Given the description of an element on the screen output the (x, y) to click on. 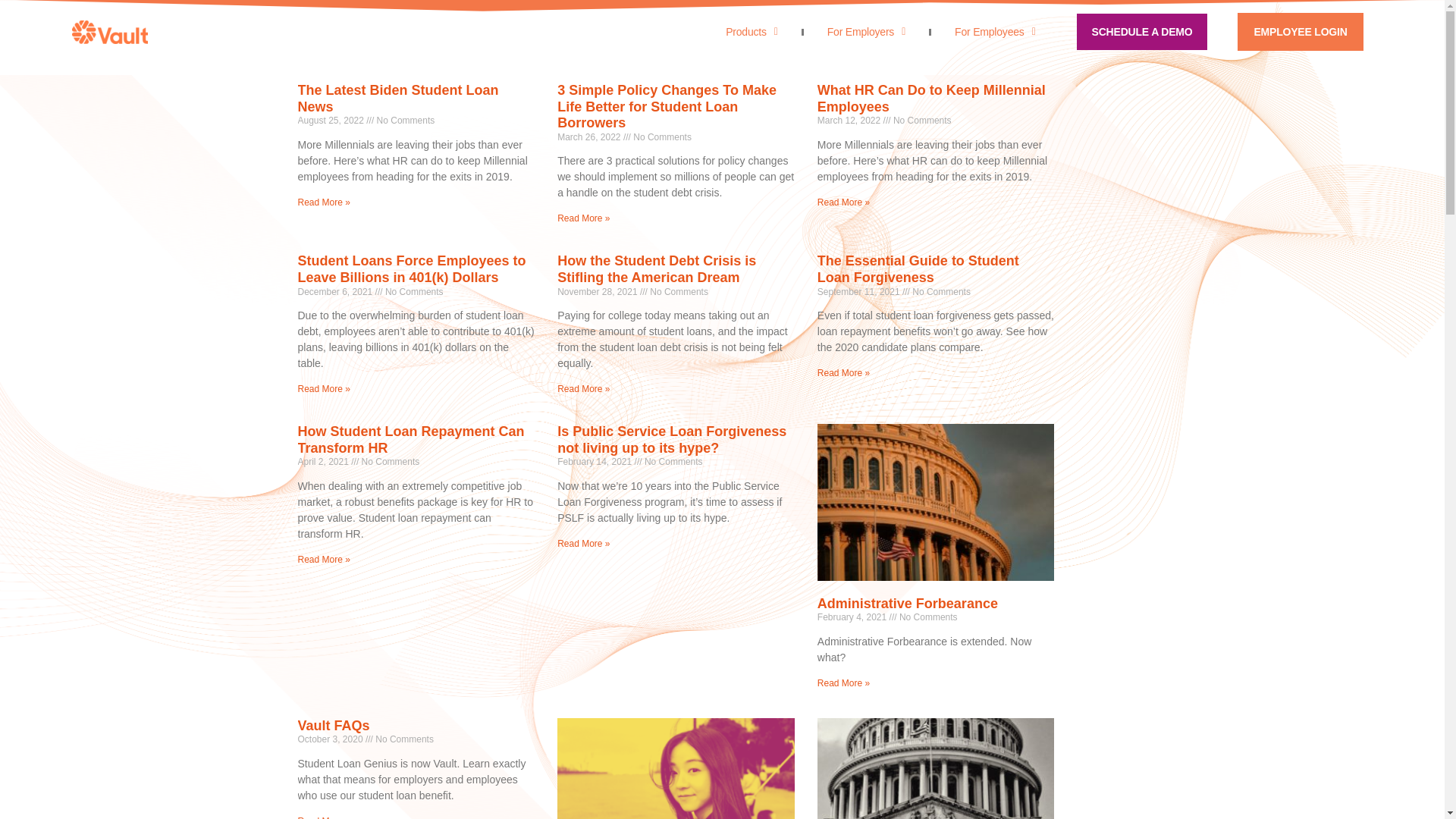
What HR Can Do to Keep Millennial Employees (930, 98)
Products (751, 31)
For Employers (866, 31)
The Latest Biden Student Loan News (397, 98)
For Employees (994, 31)
EMPLOYEE LOGIN (1299, 31)
SCHEDULE A DEMO (1142, 31)
